Given the description of an element on the screen output the (x, y) to click on. 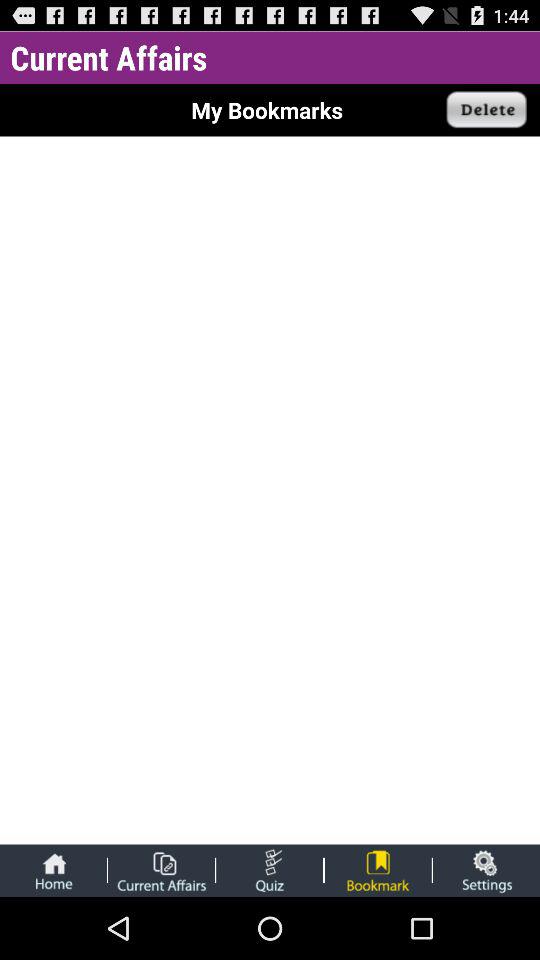
bookmark option (378, 870)
